Given the description of an element on the screen output the (x, y) to click on. 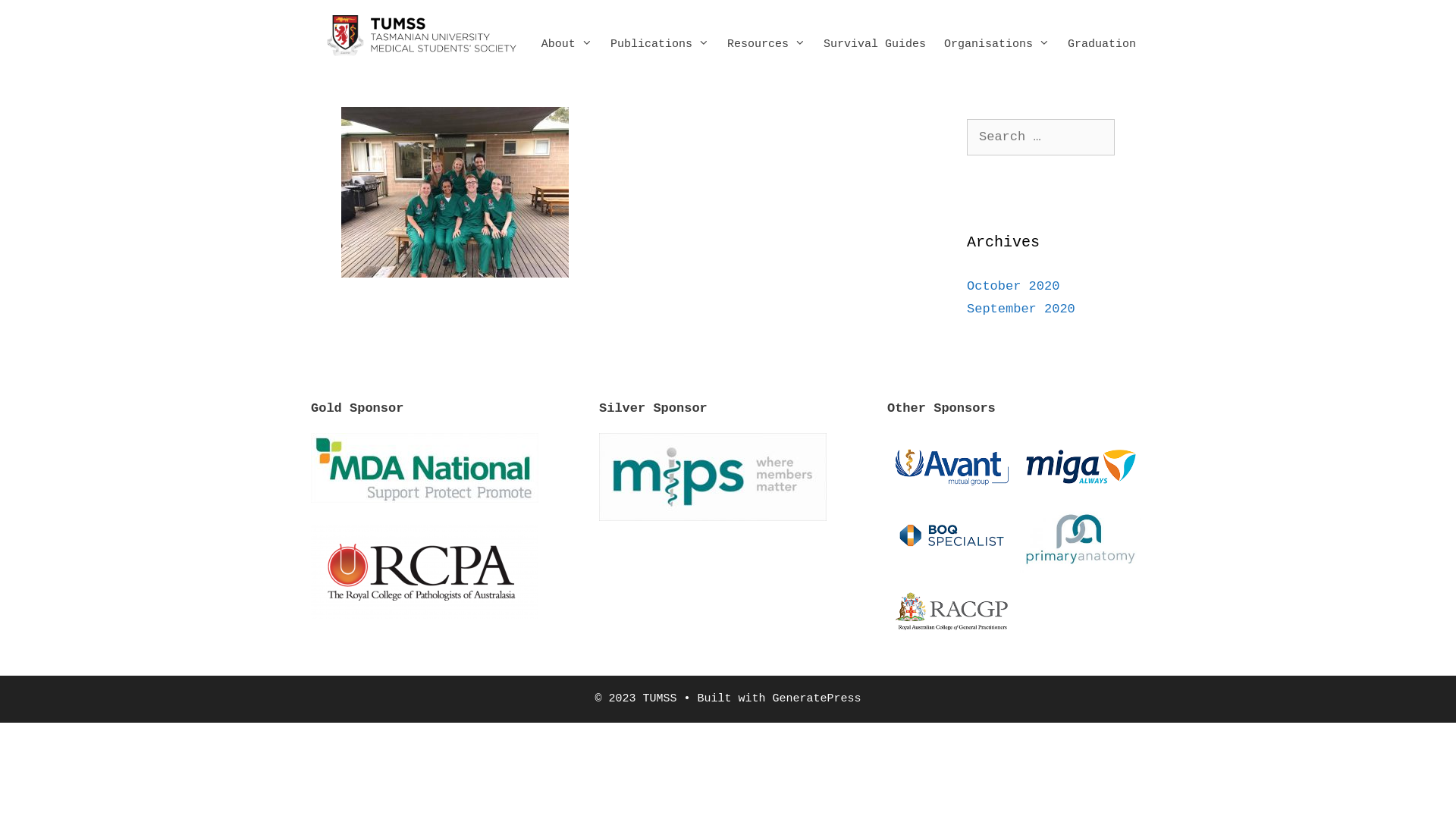
Resources Element type: text (766, 44)
Publications Element type: text (659, 44)
Organisations Element type: text (996, 44)
Survival Guides Element type: text (874, 44)
October 2020 Element type: text (1012, 286)
Graduation Element type: text (1101, 44)
TUMSS Element type: hover (421, 35)
September 2020 Element type: text (1020, 308)
Search Element type: text (39, 18)
GeneratePress Element type: text (816, 698)
Search for: Element type: hover (1040, 137)
TUMSS Element type: hover (421, 35)
About Element type: text (566, 44)
